Given the description of an element on the screen output the (x, y) to click on. 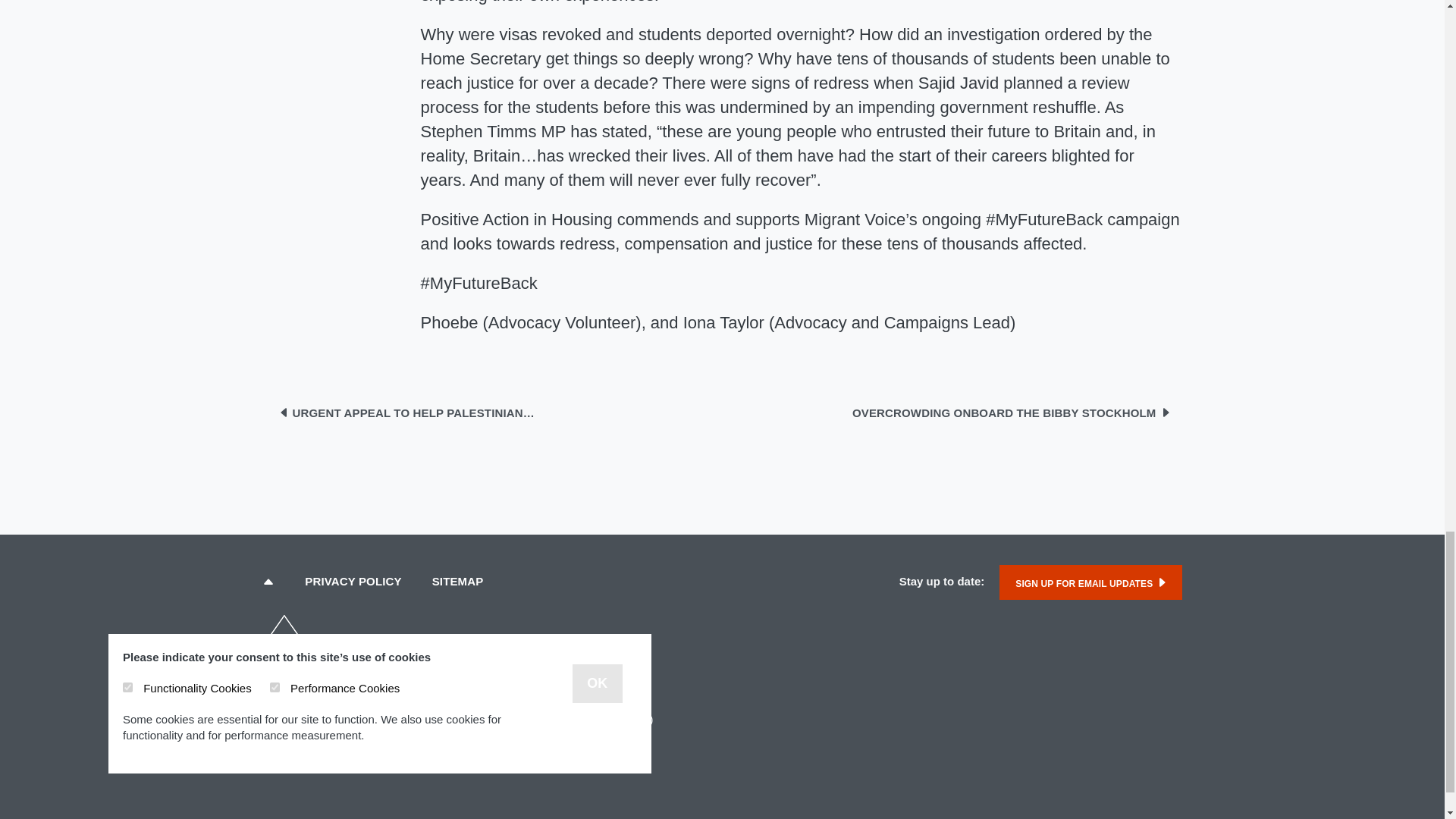
Overcrowding Onboard the Bibby Stockholm (1011, 412)
Urgent appeal to help Palestinian family evacuate from Gaza (406, 412)
